Given the description of an element on the screen output the (x, y) to click on. 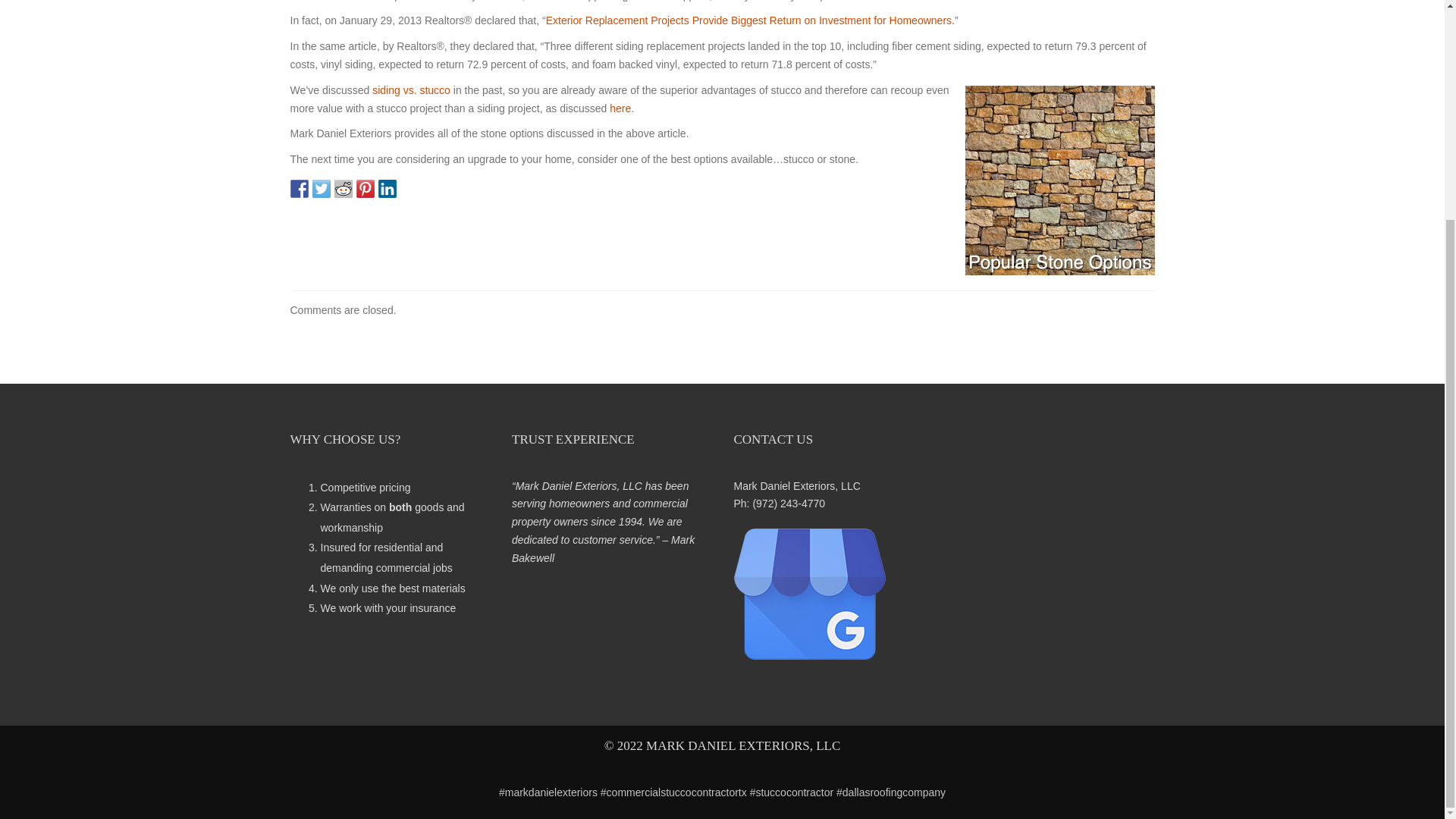
Stucco for the win (620, 108)
Best home improvement ROI (750, 20)
Share on Facebook (298, 188)
siding vs. stucco (410, 90)
here (620, 108)
Share on Twitter (321, 188)
Vinyl Siding vs. Stucco (410, 90)
